Given the description of an element on the screen output the (x, y) to click on. 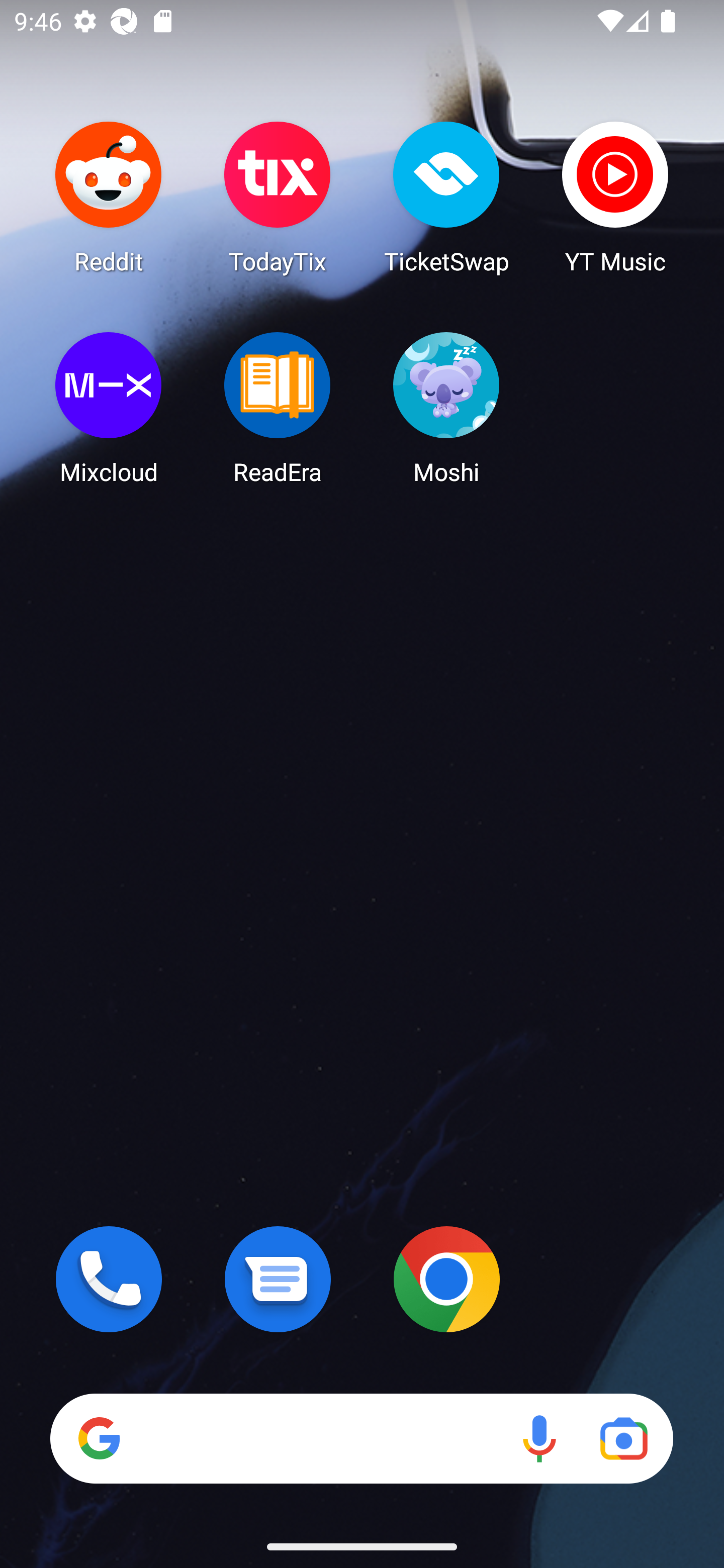
Reddit (108, 196)
TodayTix (277, 196)
TicketSwap (445, 196)
YT Music (615, 196)
Mixcloud (108, 407)
ReadEra (277, 407)
Moshi (445, 407)
Phone (108, 1279)
Messages (277, 1279)
Chrome (446, 1279)
Voice search (539, 1438)
Google Lens (623, 1438)
